Given the description of an element on the screen output the (x, y) to click on. 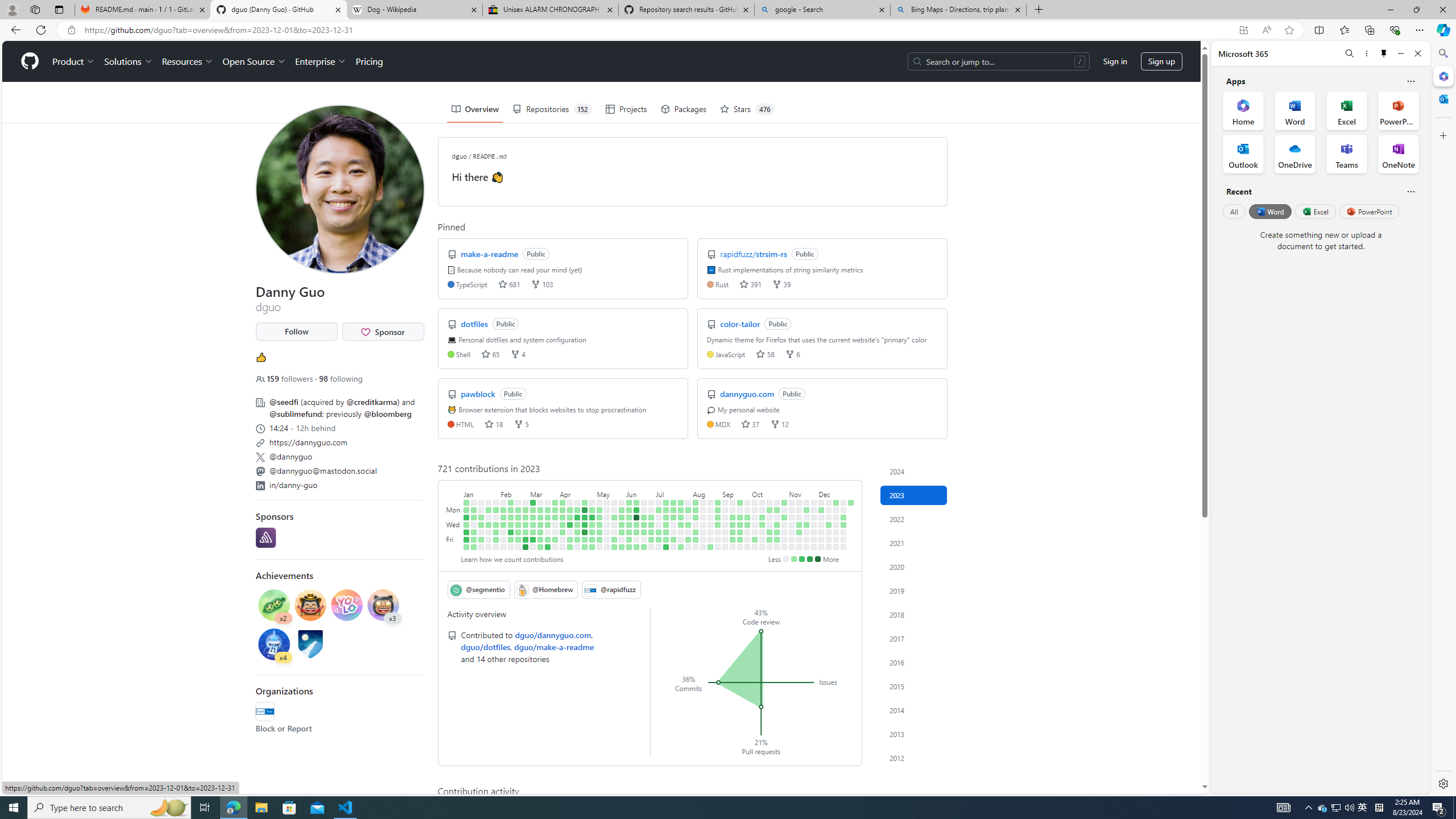
159 followers  (284, 378)
No contributions on June 2nd. (621, 539)
No contributions on March 29th. (555, 524)
4 contributions on July 16th. (674, 502)
17 contributions on April 25th. (585, 517)
1 contribution on March 2nd. (525, 531)
No contributions on June 16th. (636, 539)
1 contribution on August 8th. (695, 517)
February (514, 492)
No contributions on October 7th. (754, 546)
3 contributions on March 28th. (555, 517)
35 contributions on June 13th. (636, 517)
1 contribution on May 4th. (592, 531)
No contributions on October 8th. (761, 502)
